Given the description of an element on the screen output the (x, y) to click on. 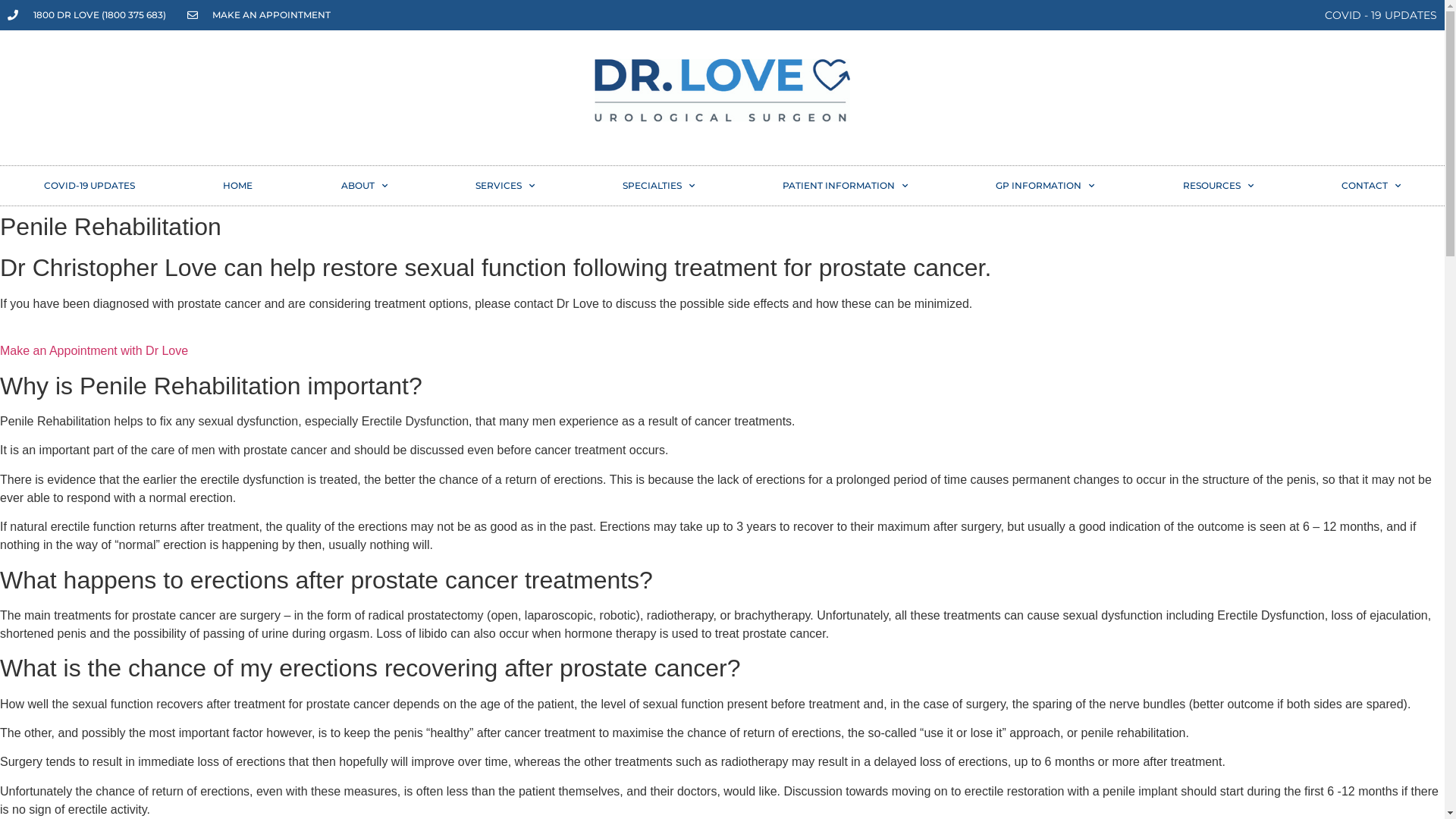
RESOURCES Element type: text (1218, 185)
1800 DR LOVE (1800 375 683) Element type: text (86, 14)
2 Element type: hover (722, 90)
GP INFORMATION Element type: text (1044, 185)
Make an Appointment with Dr Love Element type: text (94, 359)
CONTACT Element type: text (1370, 185)
MAKE AN APPOINTMENT Element type: text (258, 14)
PATIENT INFORMATION Element type: text (844, 185)
SERVICES Element type: text (504, 185)
SPECIALTIES Element type: text (658, 185)
COVID - 19 UPDATES Element type: text (1380, 14)
ABOUT Element type: text (363, 185)
HOME Element type: text (237, 185)
COVID-19 UPDATES Element type: text (89, 185)
